Given the description of an element on the screen output the (x, y) to click on. 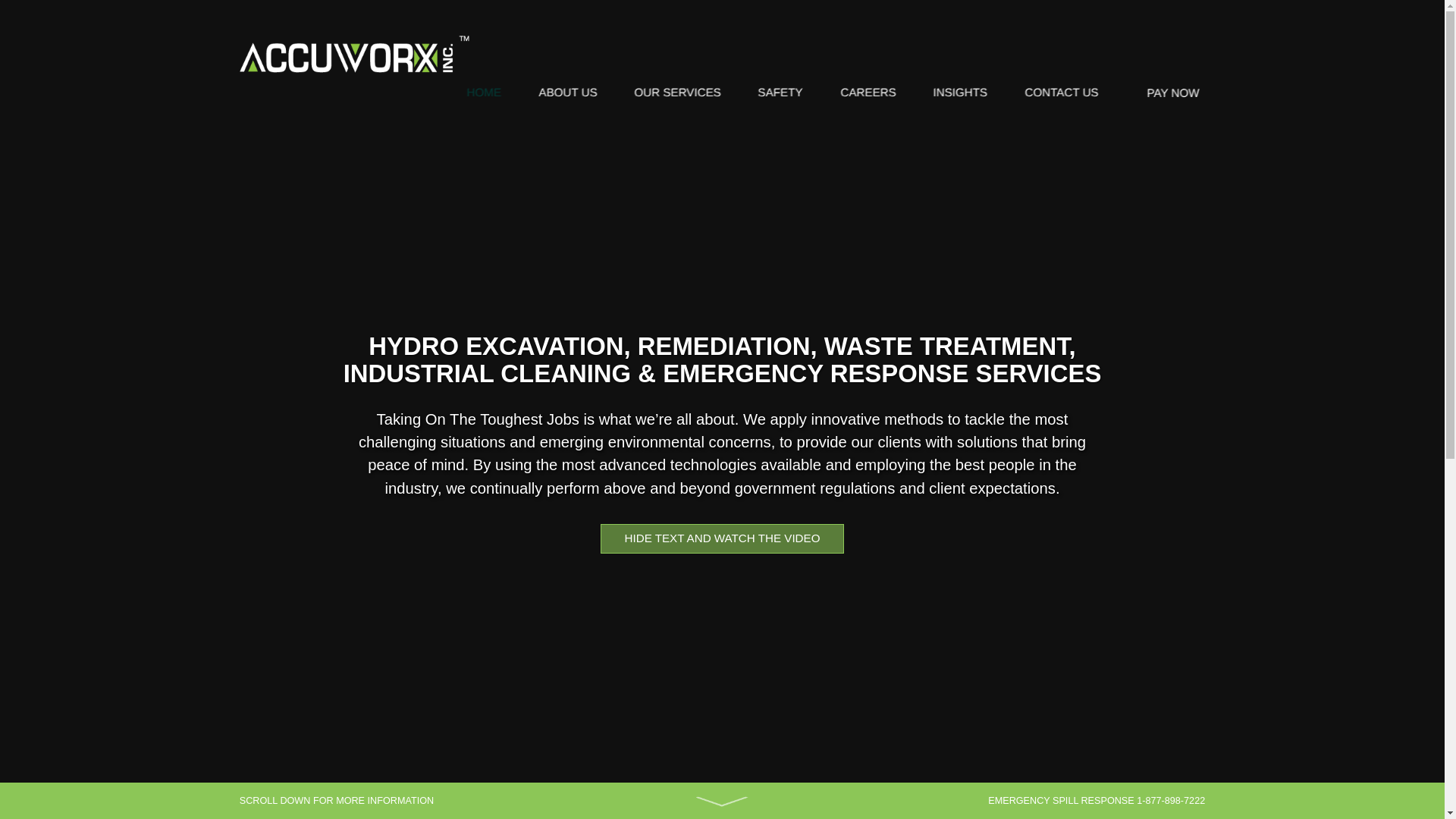
OUR SERVICES Element type: text (676, 90)
INSIGHTS Element type: text (959, 90)
CONTACT US Element type: text (1061, 90)
HOME Element type: text (483, 90)
PAY NOW Element type: text (1164, 96)
CAREERS Element type: text (867, 90)
SAFETY Element type: text (780, 90)
ABOUT US Element type: text (567, 90)
HIDE TEXT AND WATCH THE VIDEO Element type: text (722, 538)
